Given the description of an element on the screen output the (x, y) to click on. 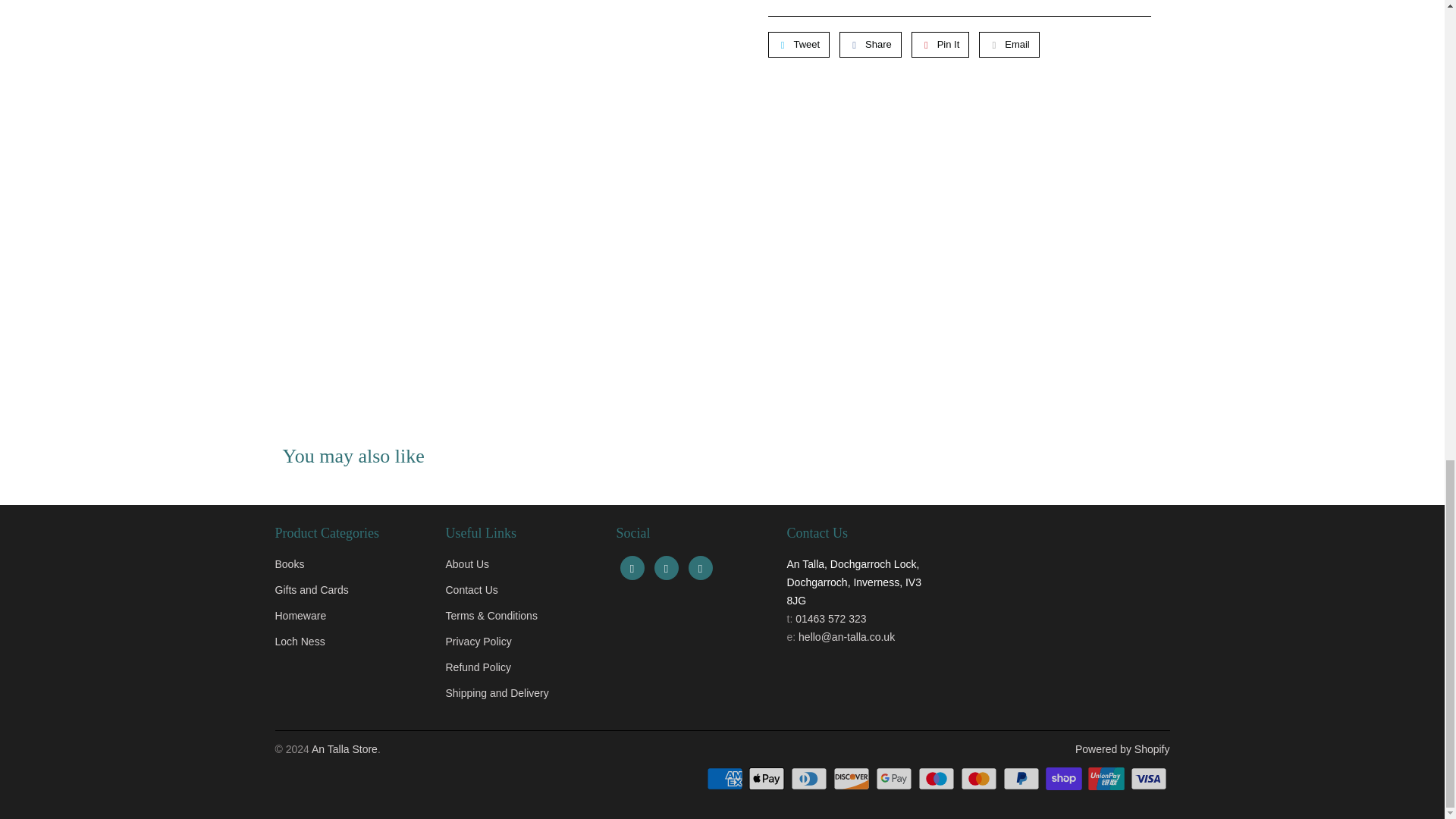
Share this on Twitter (798, 44)
Shop Pay (1064, 778)
Share this on Pinterest (940, 44)
PayPal (1022, 778)
Apple Pay (767, 778)
Email this to a friend (1008, 44)
Maestro (938, 778)
American Express (725, 778)
Mastercard (980, 778)
An Talla Store on Facebook (632, 567)
Union Pay (1106, 778)
An Talla Store on Instagram (700, 567)
Discover (852, 778)
Google Pay (895, 778)
Diners Club (809, 778)
